Given the description of an element on the screen output the (x, y) to click on. 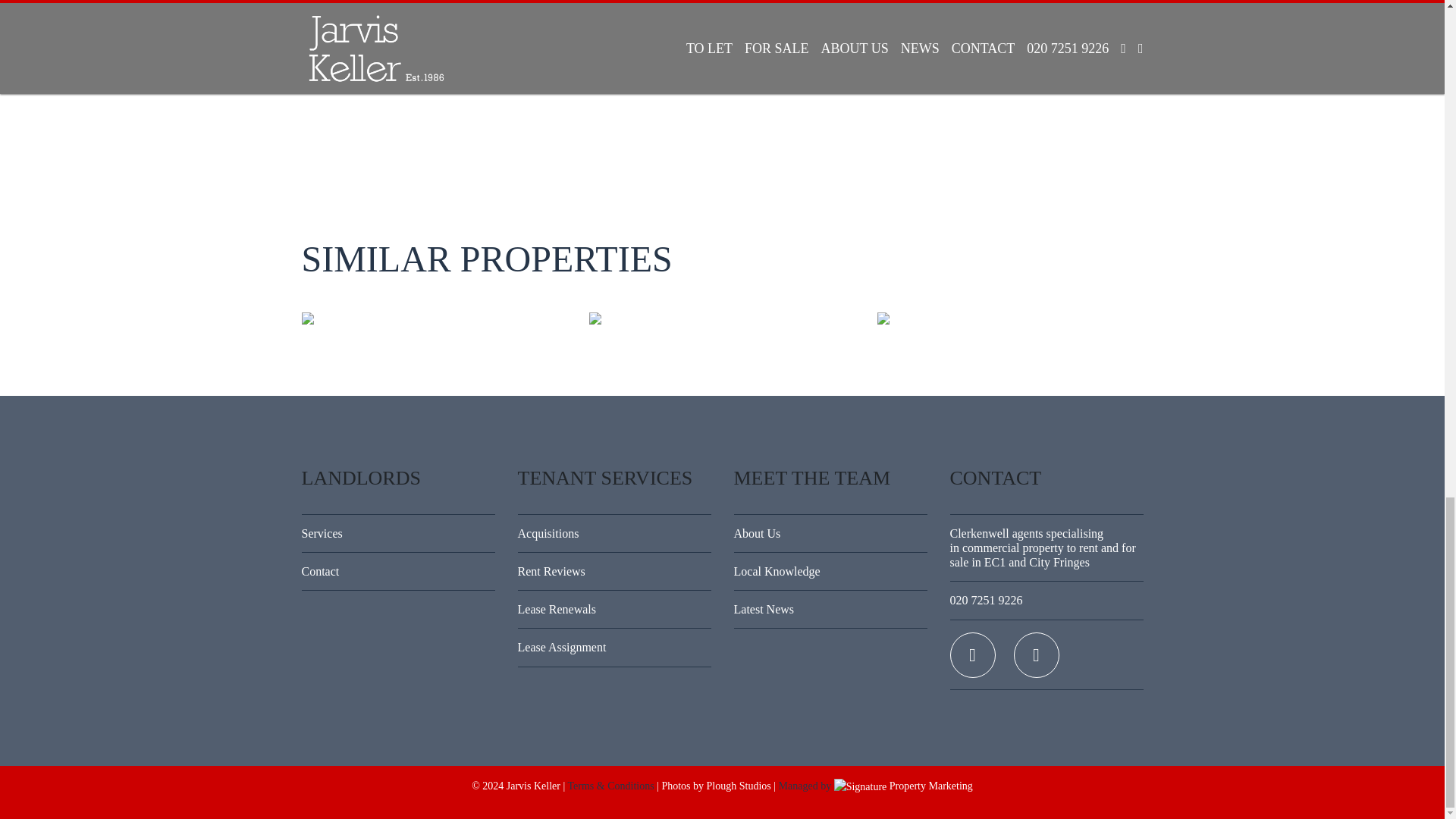
Acquisitions (613, 533)
Latest News (830, 609)
Lease Assignment (613, 646)
Services (398, 533)
About Us (830, 533)
020 7251 9226 (1045, 600)
Rent Reviews (613, 570)
Lease Renewals (613, 609)
Contact (398, 570)
